Given the description of an element on the screen output the (x, y) to click on. 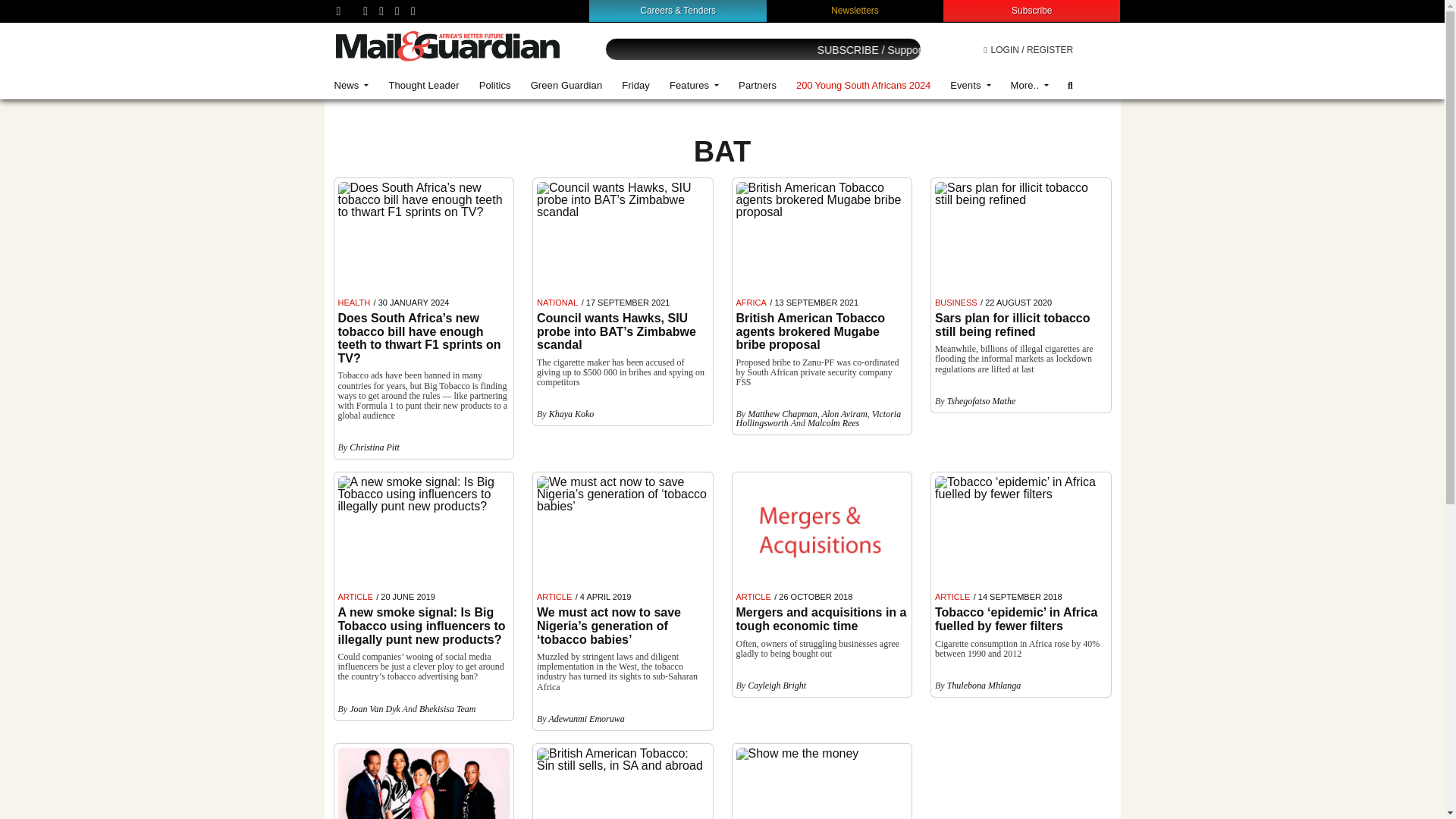
Politics (494, 85)
Subscribe (1031, 9)
Friday (635, 85)
Newsletters (855, 9)
Thought Leader (423, 85)
News (351, 85)
Green Guardian (566, 85)
News (351, 85)
